Given the description of an element on the screen output the (x, y) to click on. 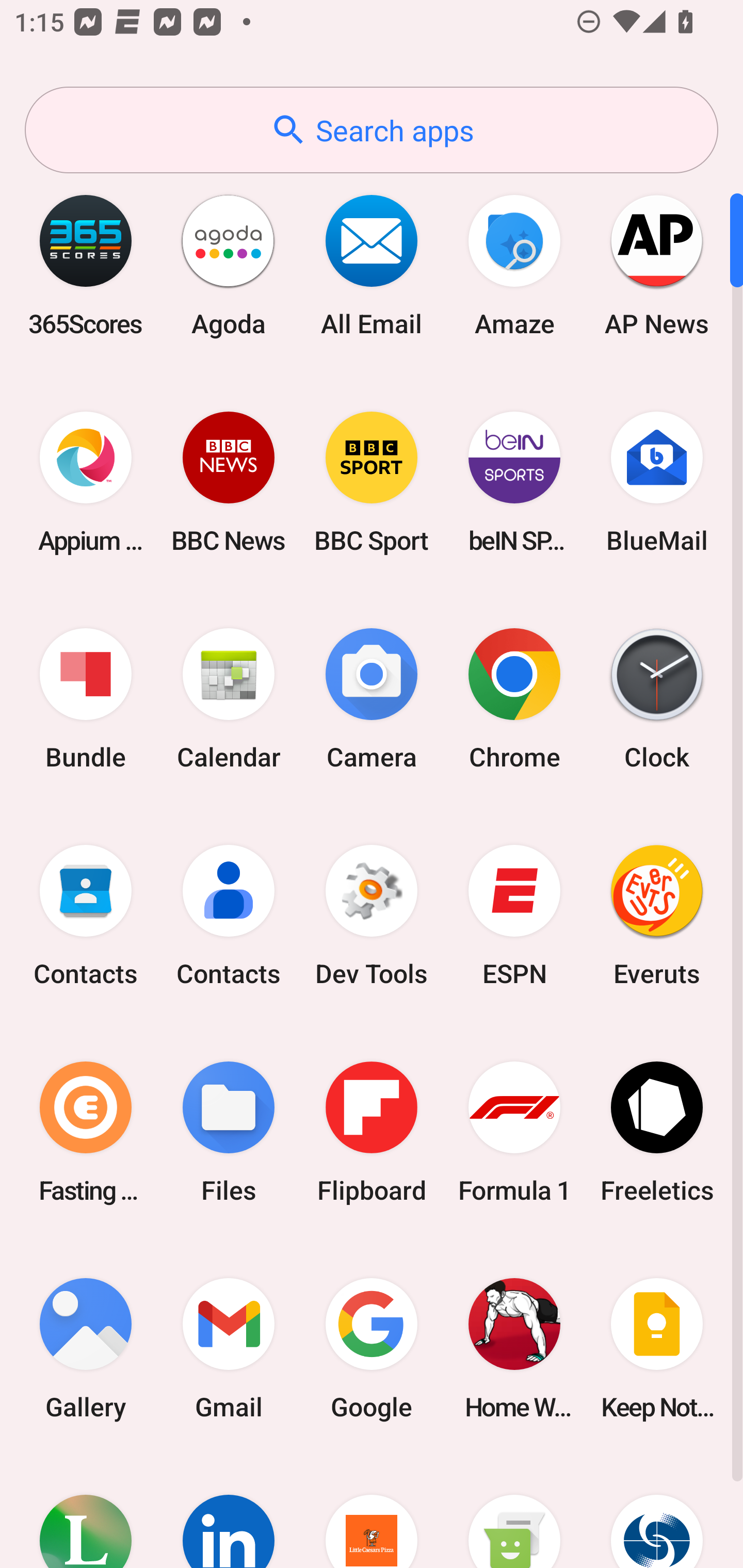
  Search apps (371, 130)
365Scores (85, 264)
Agoda (228, 264)
All Email (371, 264)
Amaze (514, 264)
AP News (656, 264)
Appium Settings (85, 482)
BBC News (228, 482)
BBC Sport (371, 482)
beIN SPORTS (514, 482)
BlueMail (656, 482)
Bundle (85, 699)
Calendar (228, 699)
Camera (371, 699)
Chrome (514, 699)
Clock (656, 699)
Contacts (85, 915)
Contacts (228, 915)
Dev Tools (371, 915)
ESPN (514, 915)
Everuts (656, 915)
Fasting Coach (85, 1131)
Files (228, 1131)
Flipboard (371, 1131)
Formula 1 (514, 1131)
Freeletics (656, 1131)
Gallery (85, 1348)
Gmail (228, 1348)
Google (371, 1348)
Home Workout (514, 1348)
Keep Notes (656, 1348)
